Given the description of an element on the screen output the (x, y) to click on. 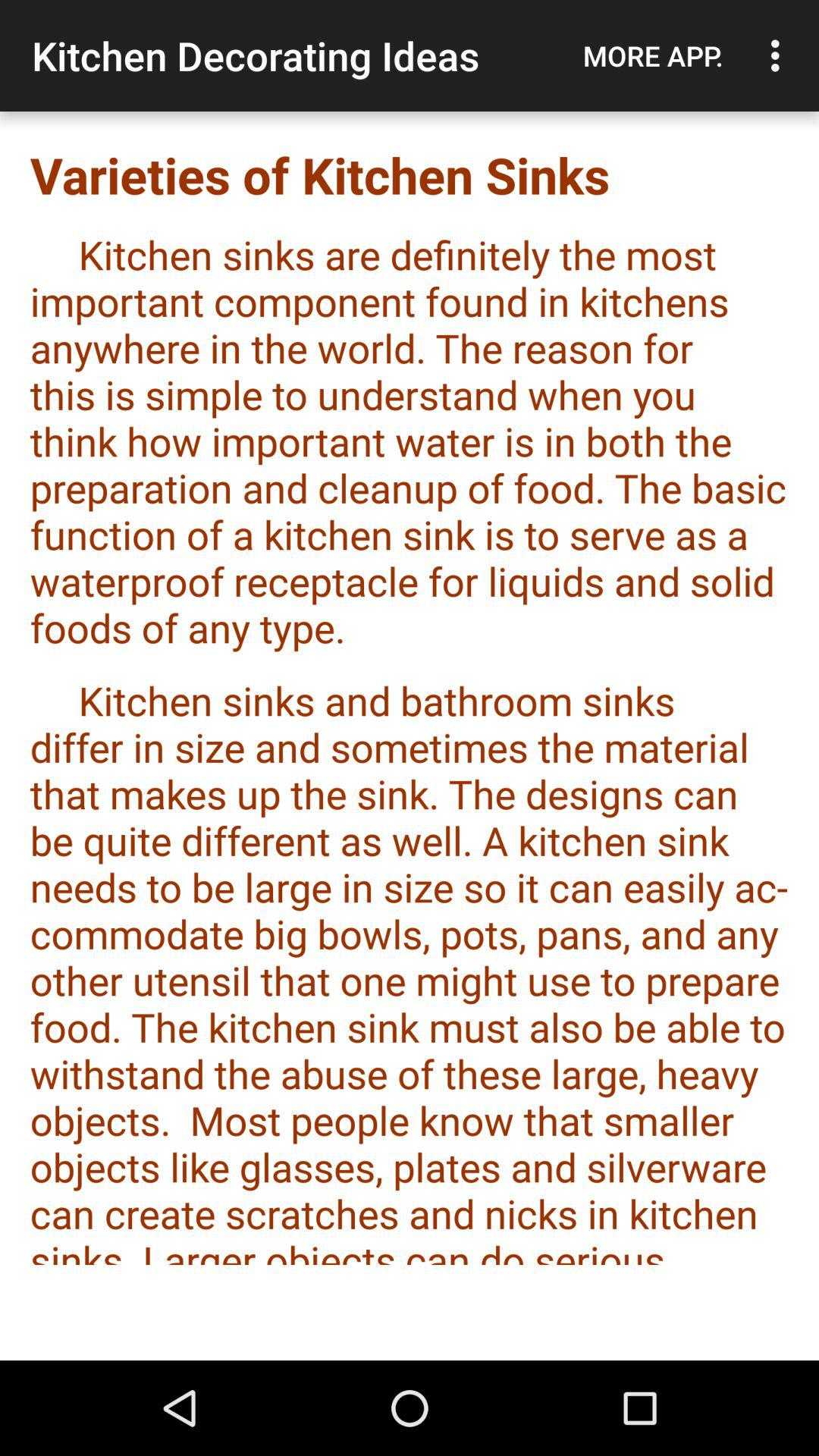
select the more app. item (653, 55)
